Given the description of an element on the screen output the (x, y) to click on. 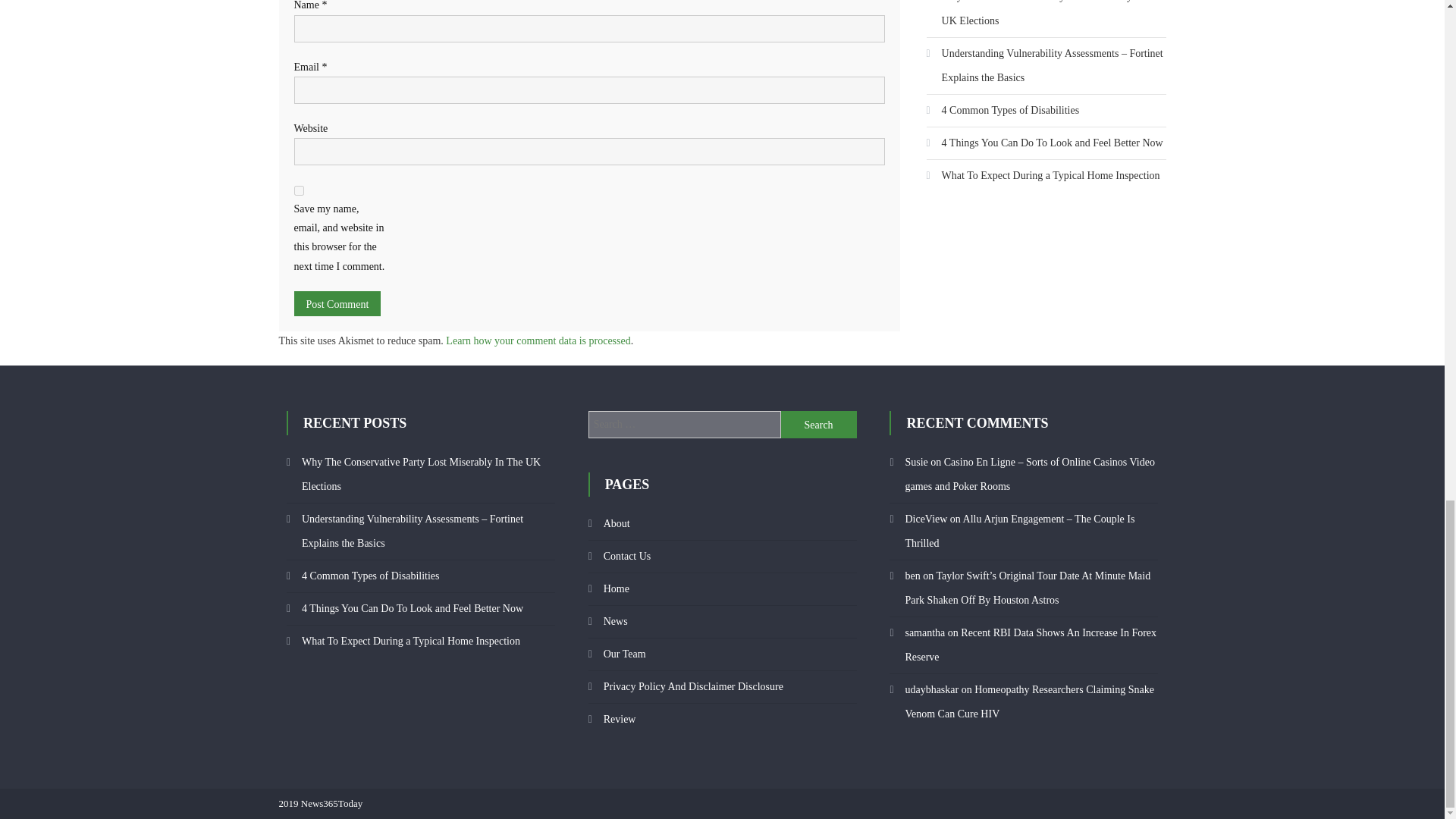
Post Comment (337, 303)
Learn how your comment data is processed (537, 340)
Search (818, 424)
yes (299, 190)
Search (818, 424)
Post Comment (337, 303)
